Given the description of an element on the screen output the (x, y) to click on. 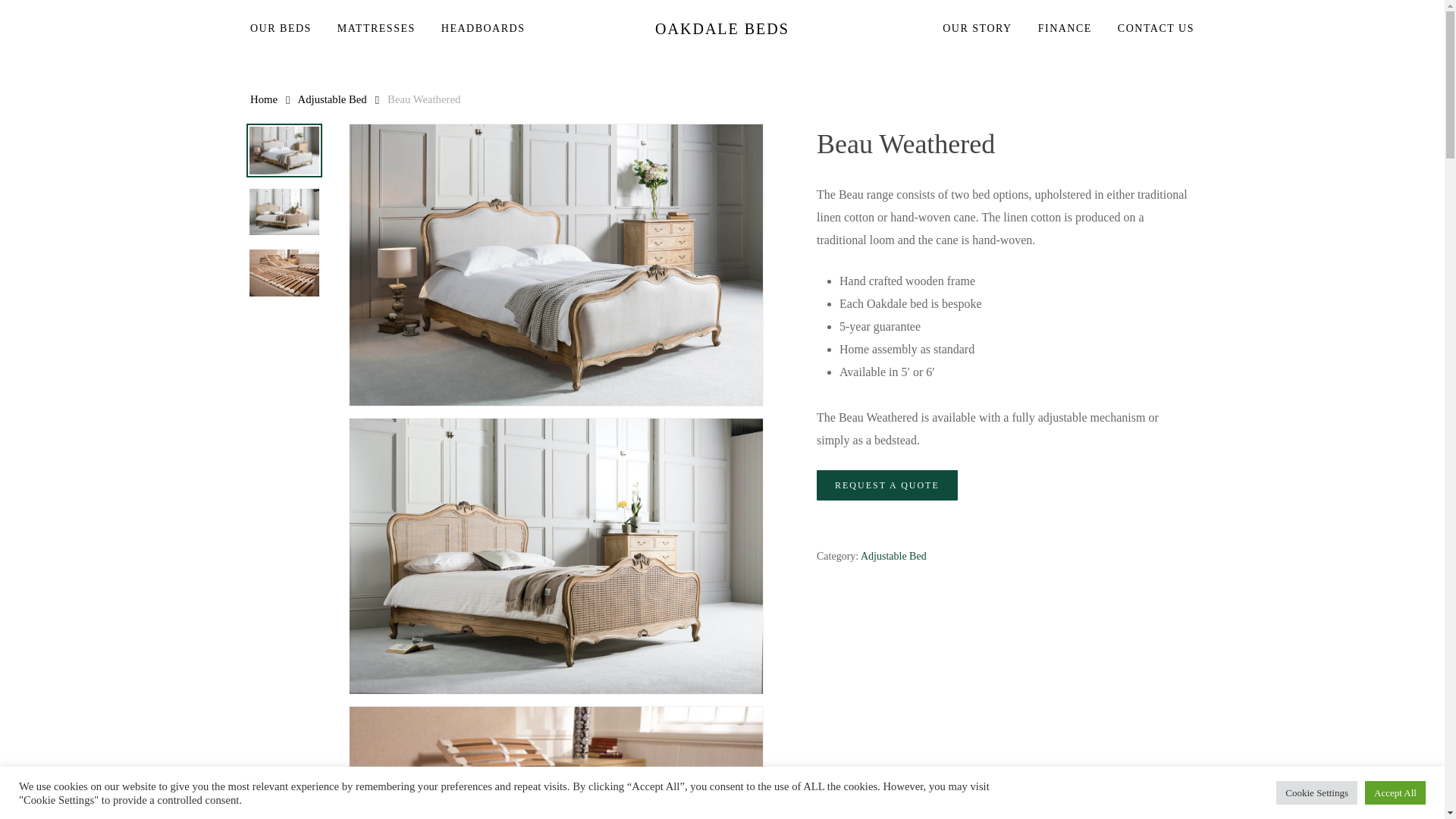
OAKDALE BEDS (722, 28)
MATTRESSES (376, 28)
HEADBOARDS (483, 28)
Home (264, 99)
FINANCE (1065, 28)
OUR BEDS (287, 28)
Adjustable Bed (332, 99)
REQUEST A QUOTE (887, 485)
CONTACT US (1149, 28)
Adjustable Bed (893, 555)
OUR STORY (977, 28)
Beau Weathered Linen Bed (555, 264)
